Given the description of an element on the screen output the (x, y) to click on. 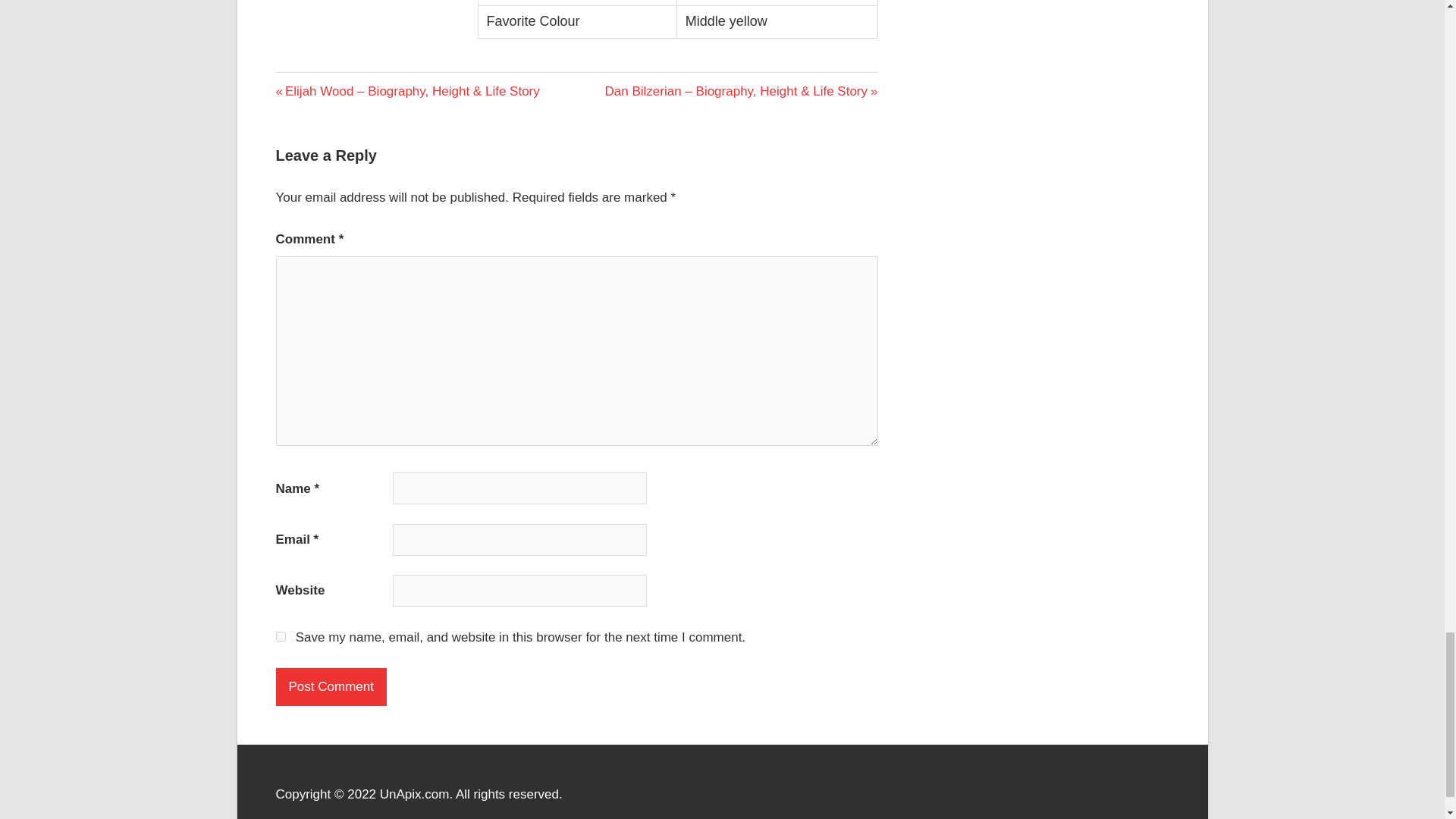
Post Comment (331, 686)
BIOGRAPHIES (321, 85)
Post Comment (331, 686)
yes (280, 636)
BEN AFFLECK (303, 91)
